Given the description of an element on the screen output the (x, y) to click on. 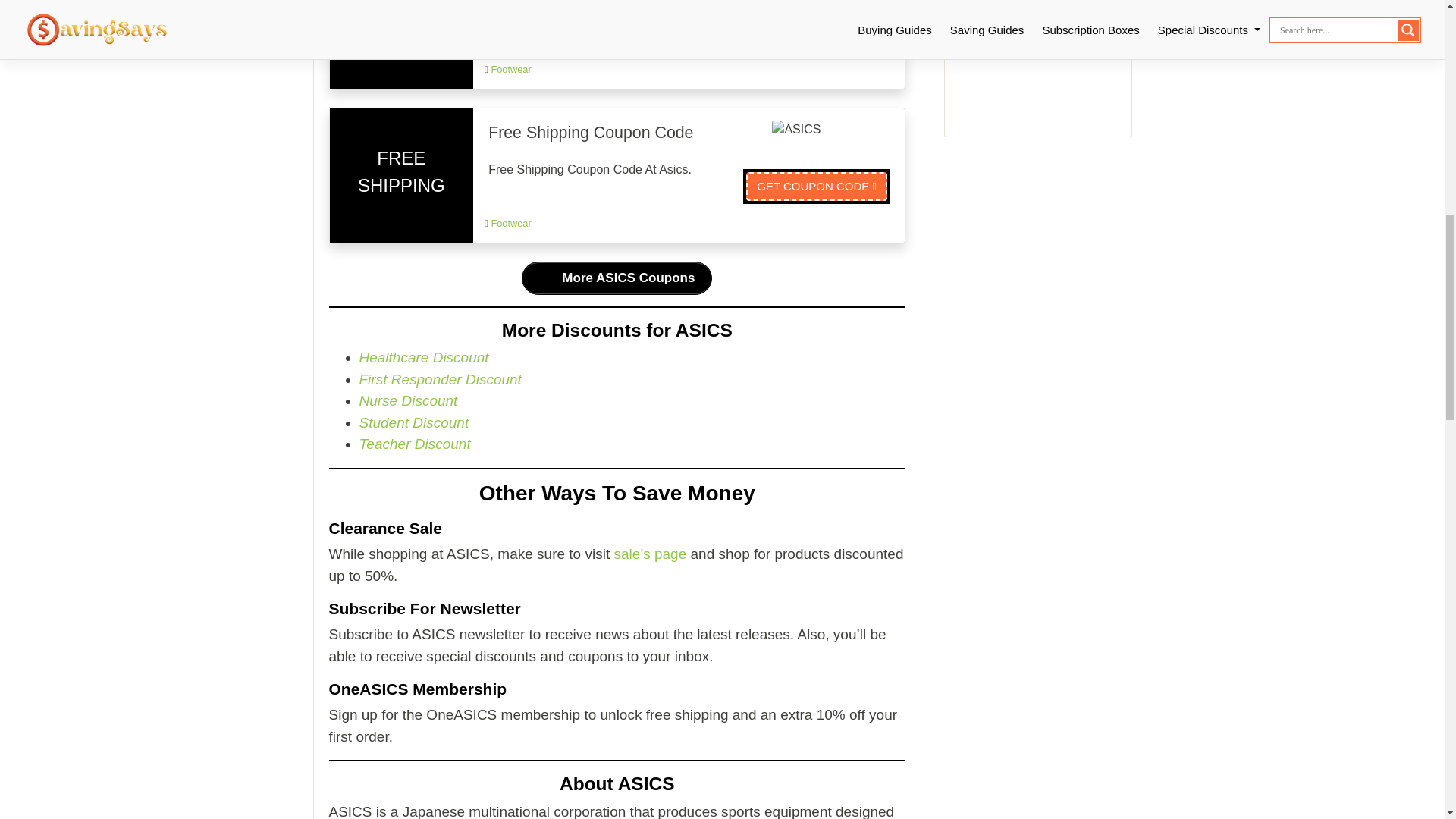
Nurse Discount (408, 400)
Footwear (510, 223)
GET COUPON CODE (815, 185)
First Responder Discount (440, 379)
Healthcare Discount (424, 357)
GET COUPON CODE (815, 32)
More ASICS Coupons (616, 277)
Teacher Discount (414, 443)
Student Discount (413, 422)
Footwear (510, 69)
